Given the description of an element on the screen output the (x, y) to click on. 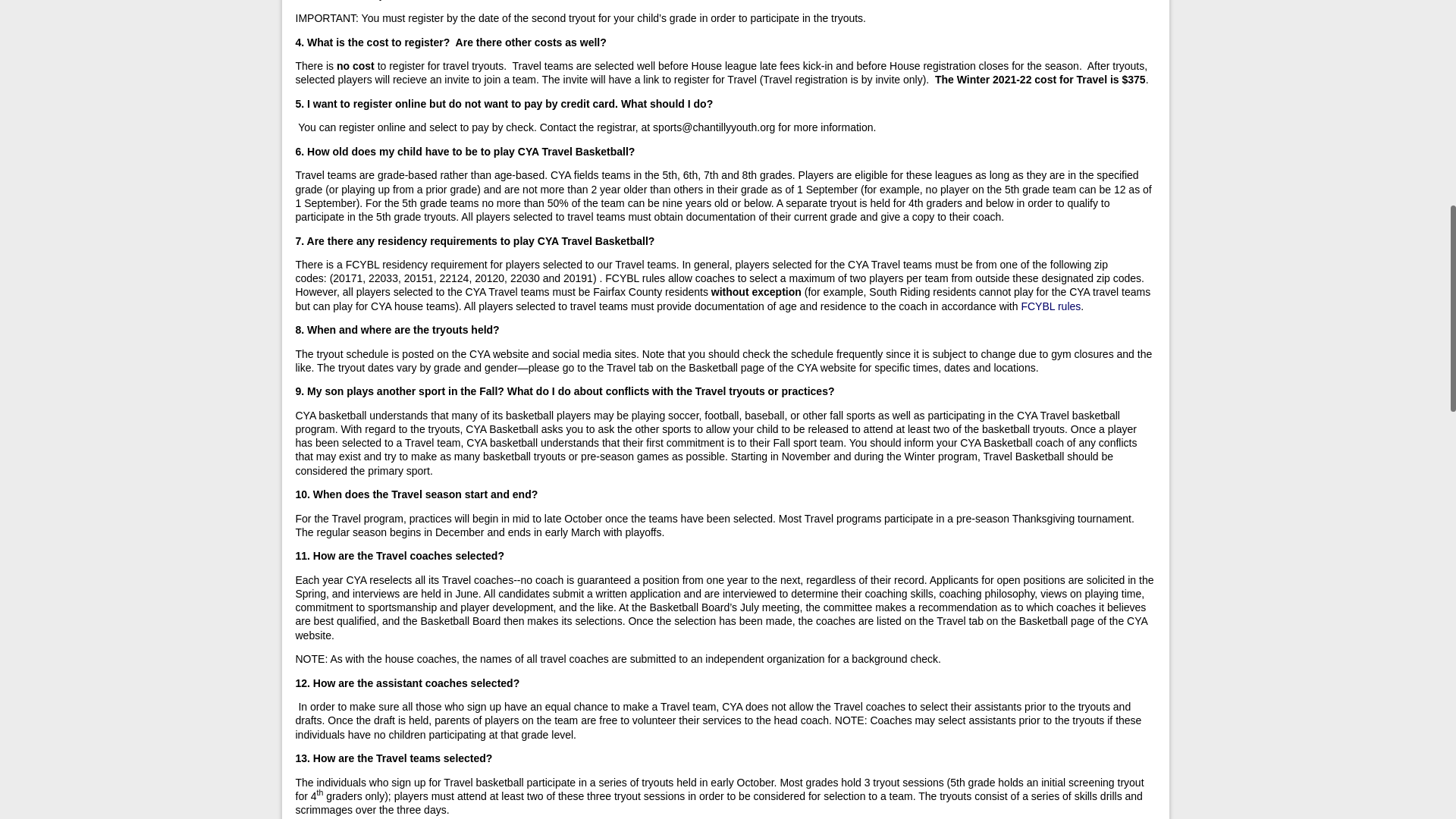
FCYBL rules (1050, 306)
